Given the description of an element on the screen output the (x, y) to click on. 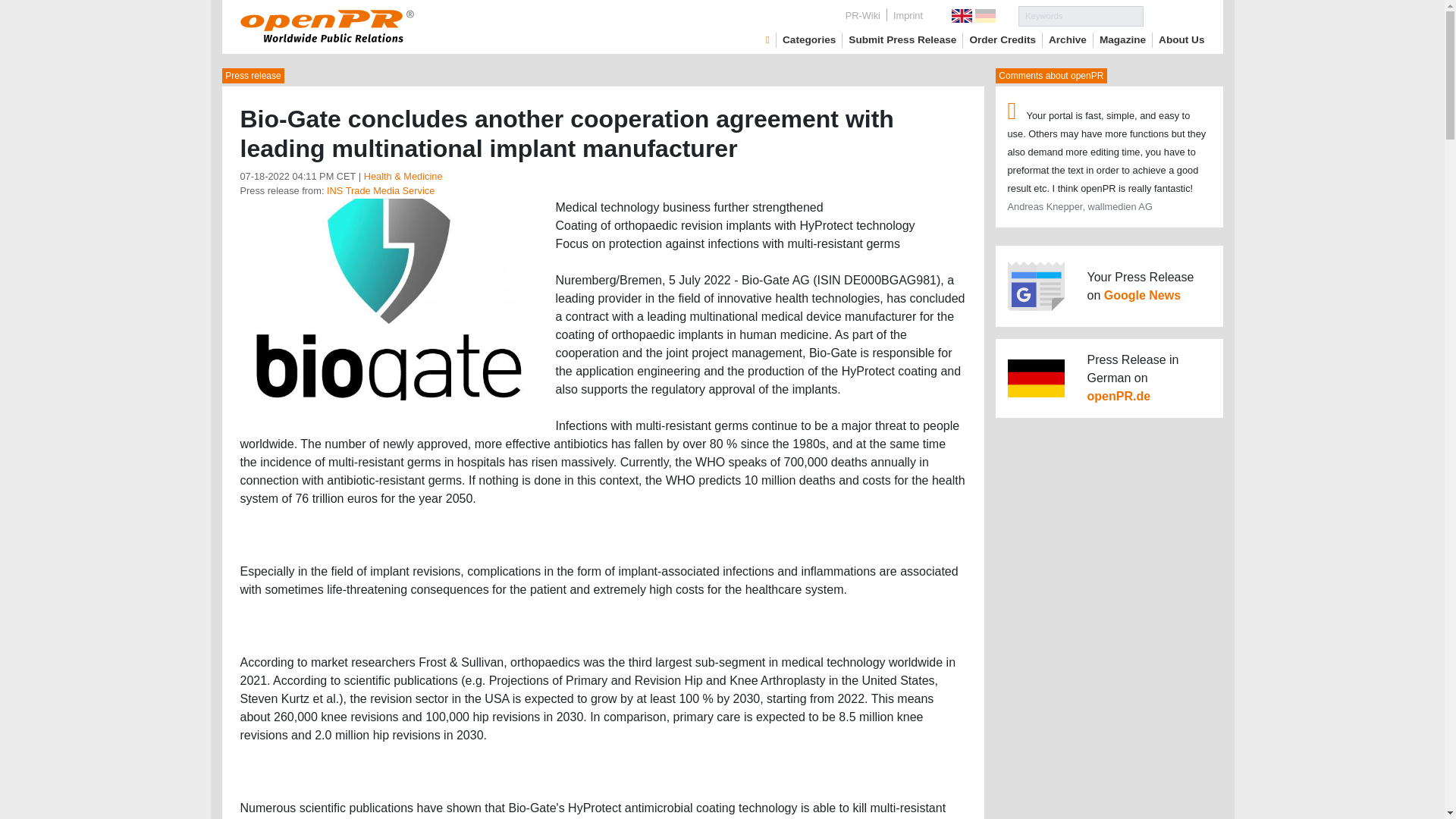
Archive (1067, 39)
INS Trade Media Service (379, 190)
PR-Wiki (863, 15)
Order Credits (1002, 39)
About Us (1181, 39)
Search   (1173, 15)
archive und pressrelease of INS Trade Media Service (379, 190)
Categories (809, 39)
Imprint (907, 15)
